Given the description of an element on the screen output the (x, y) to click on. 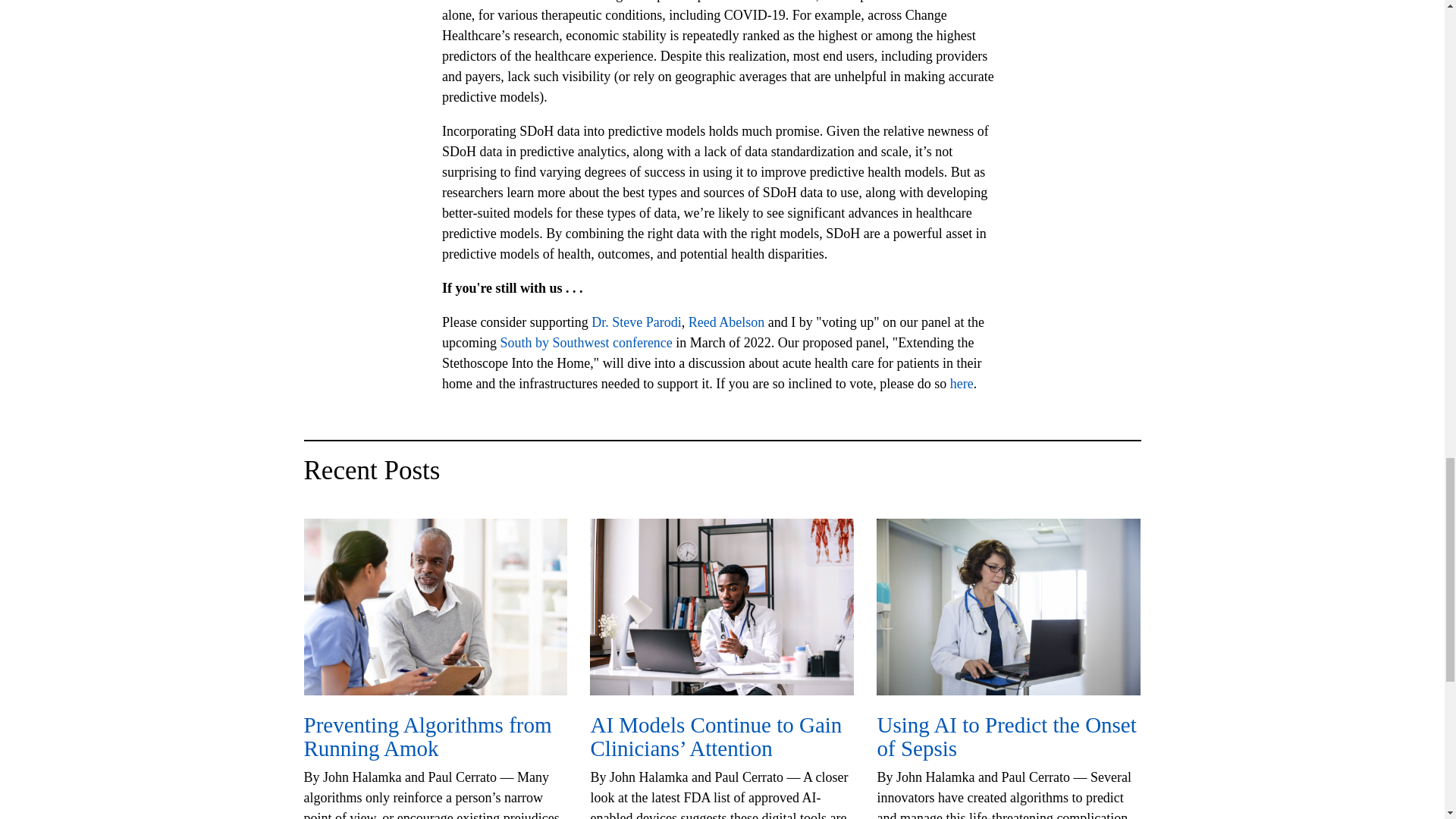
Dr. Steve Parodi (636, 322)
South by Southwest conference (585, 342)
Reed Abelson (726, 322)
